Given the description of an element on the screen output the (x, y) to click on. 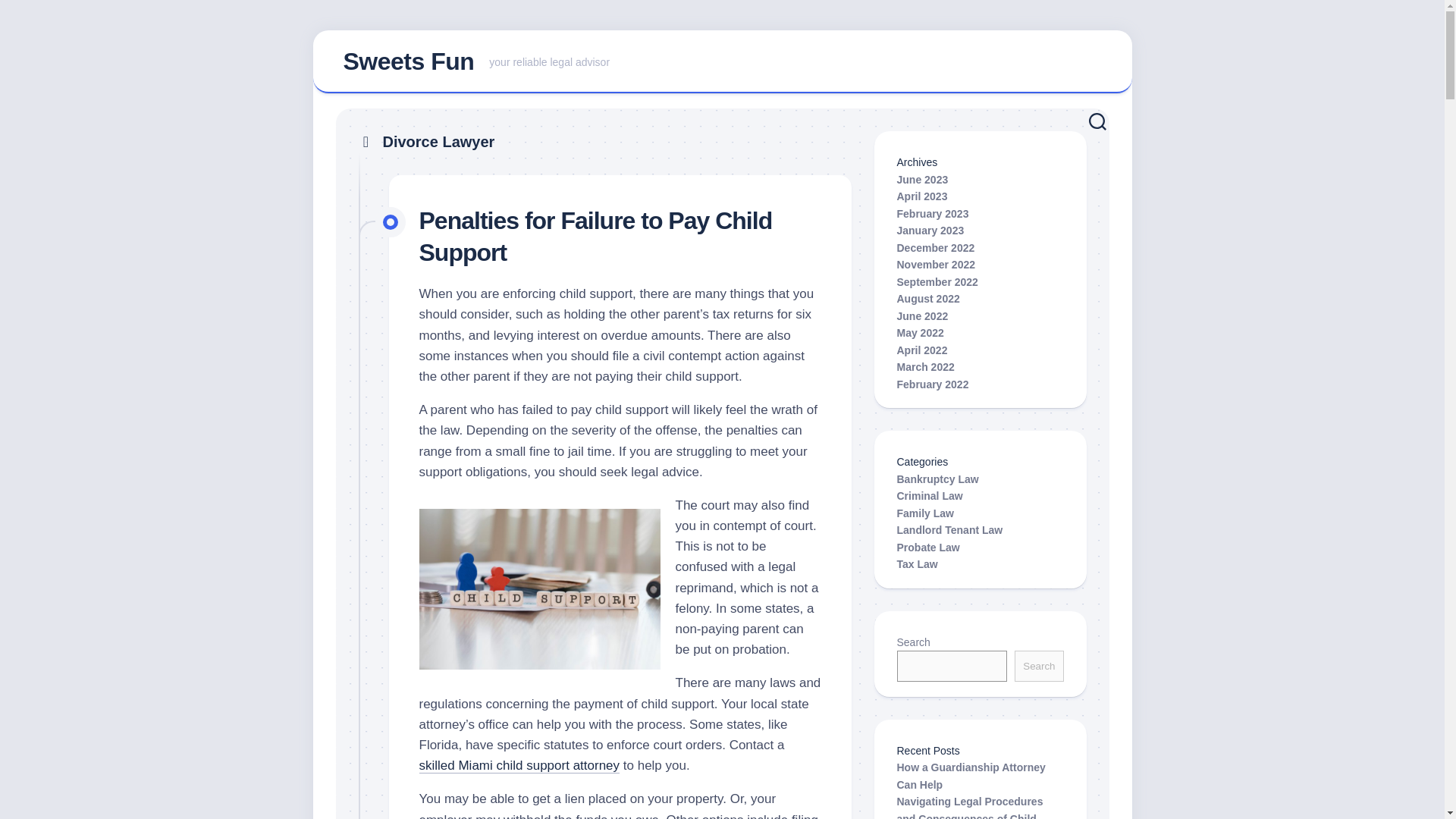
Landlord Tenant Law (949, 530)
How a Guardianship Attorney Can Help (970, 776)
Criminal Law (929, 495)
April 2023 (921, 196)
February 2023 (932, 214)
June 2022 (921, 315)
skilled Miami child support attorney (722, 62)
Family Law (519, 765)
March 2022 (924, 512)
